Given the description of an element on the screen output the (x, y) to click on. 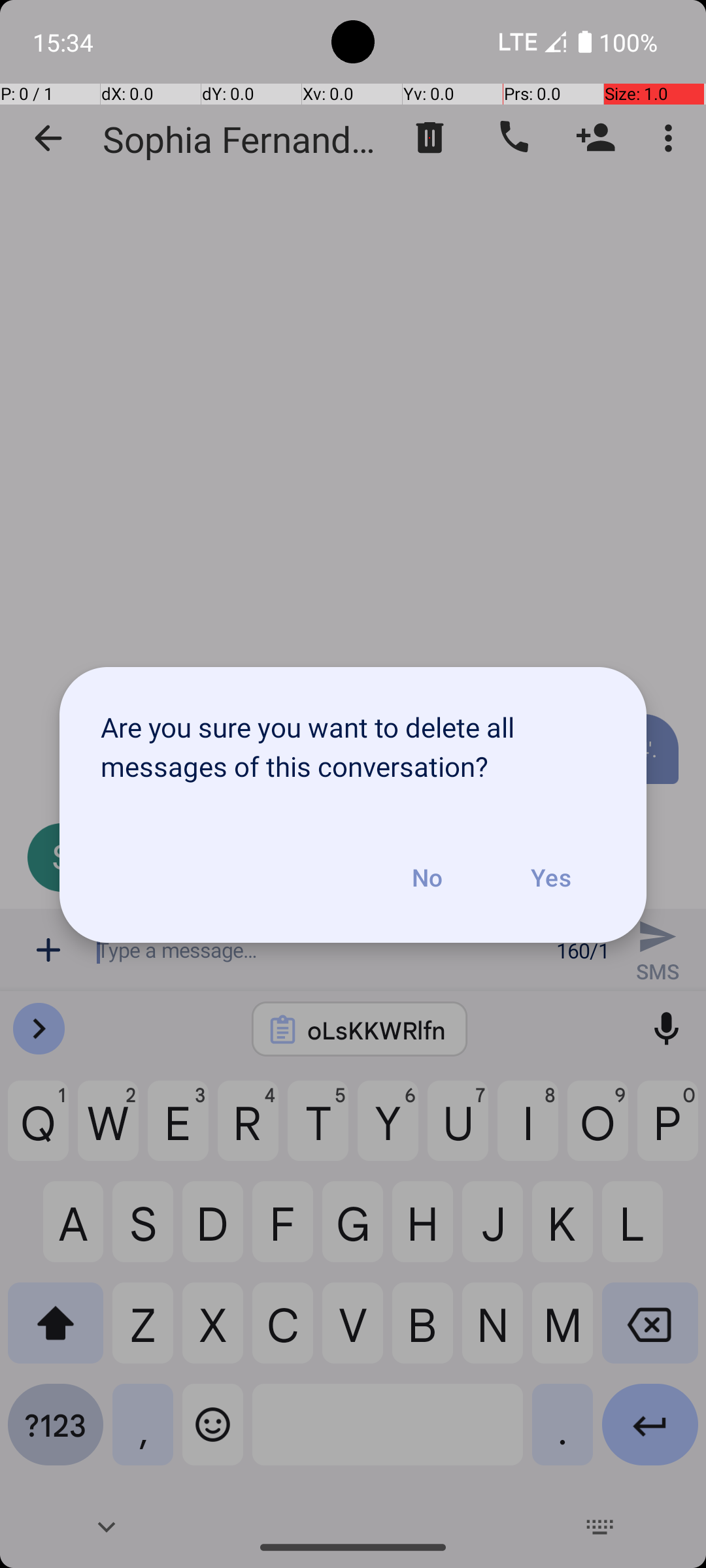
Are you sure you want to delete all messages of this conversation? Element type: android.widget.TextView (352, 739)
No Element type: android.widget.Button (426, 877)
Yes Element type: android.widget.Button (550, 877)
